Given the description of an element on the screen output the (x, y) to click on. 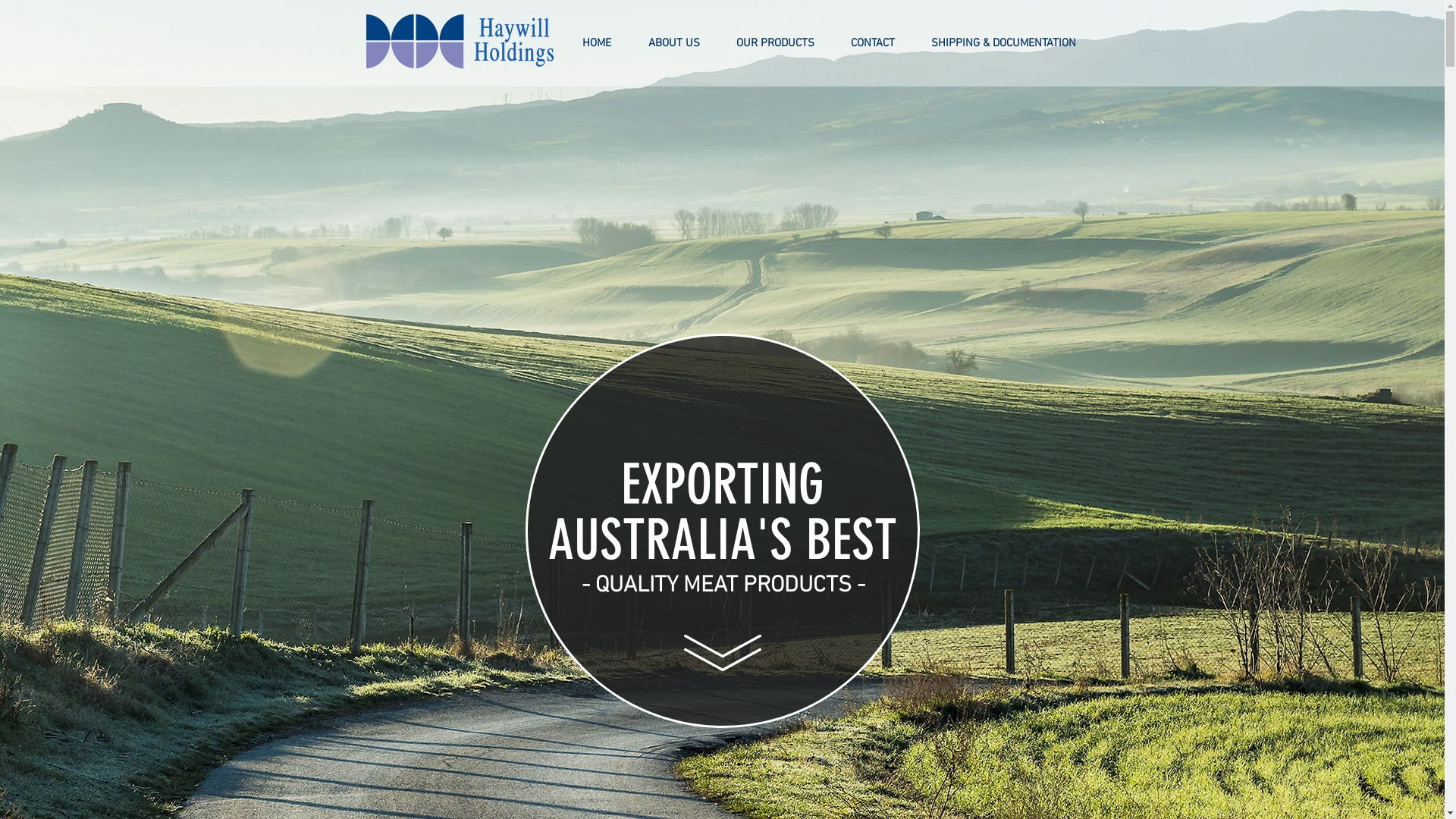
HOME Element type: text (597, 43)
SHIPPING & DOCUMENTATION Element type: text (1003, 43)
Haywill-logo-landscape.png Element type: hover (459, 40)
CONTACT Element type: text (872, 43)
EXPORTING Element type: text (722, 484)
OUR PRODUCTS Element type: text (774, 43)
AUSTRALIA'S BEST Element type: text (722, 539)
ABOUT US Element type: text (673, 43)
